Given the description of an element on the screen output the (x, y) to click on. 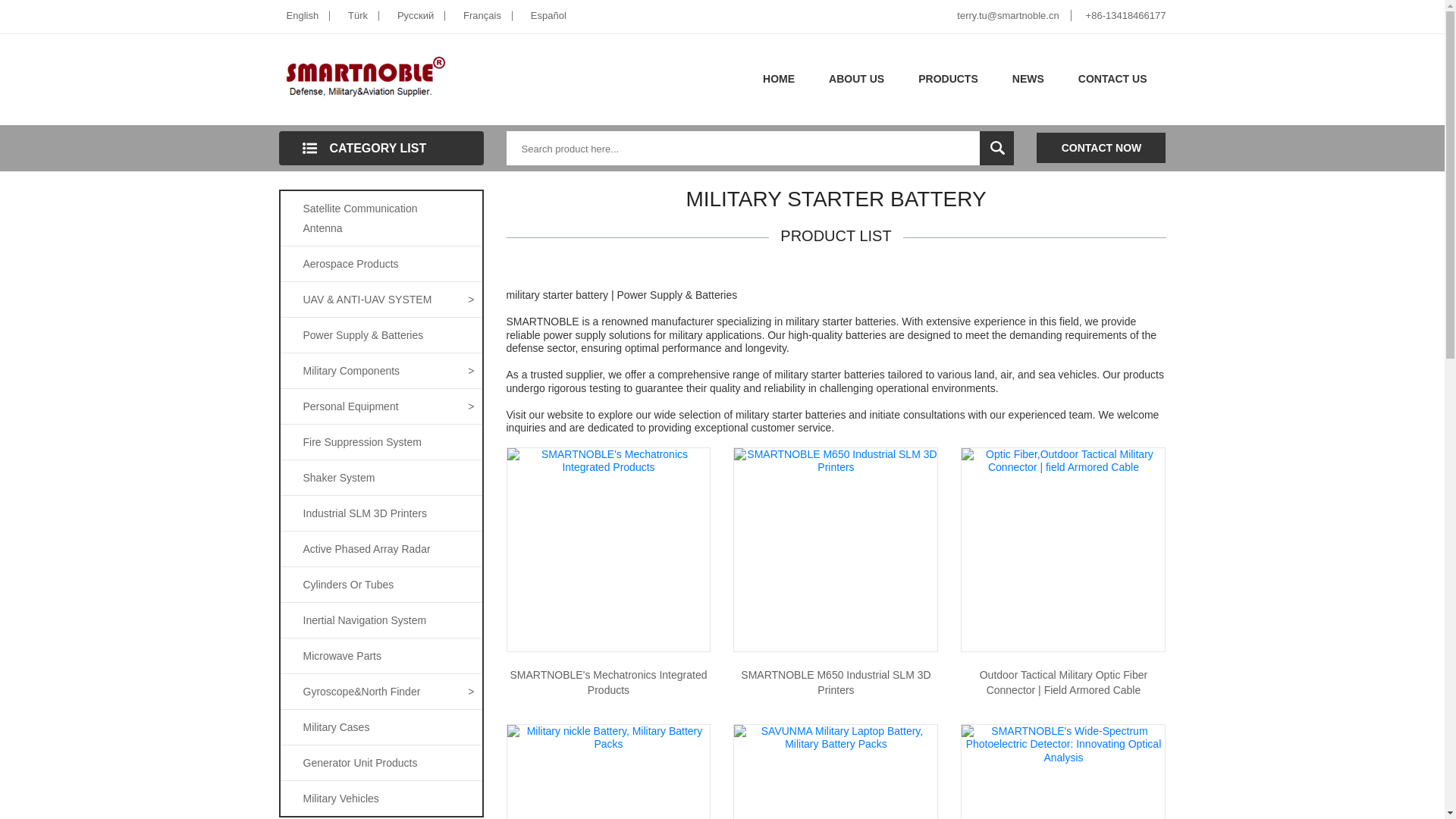
Military nickle Battery, Military Battery Packs (608, 736)
ABOUT US (856, 78)
SMARTNOBLE M650 Industrial SLM 3D Printers  (835, 460)
PRODUCTS (947, 78)
English (304, 15)
SAVUNMA Military Laptop Battery, Military Battery Packs (835, 736)
SMARTNOBLE's Mechatronics Integrated Products (608, 460)
HOME (778, 78)
